Given the description of an element on the screen output the (x, y) to click on. 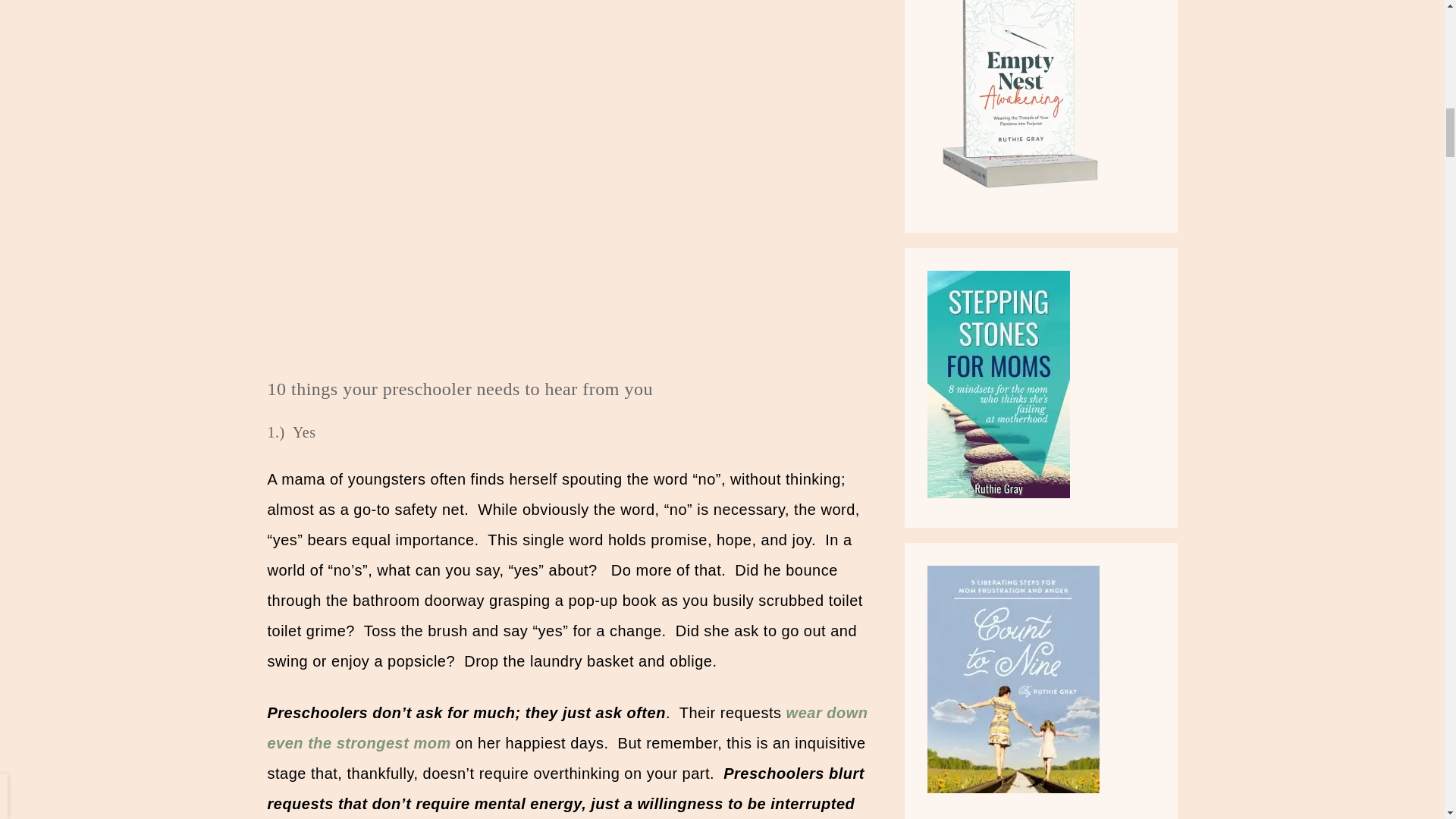
wear down even the strongest mom (566, 727)
